Given the description of an element on the screen output the (x, y) to click on. 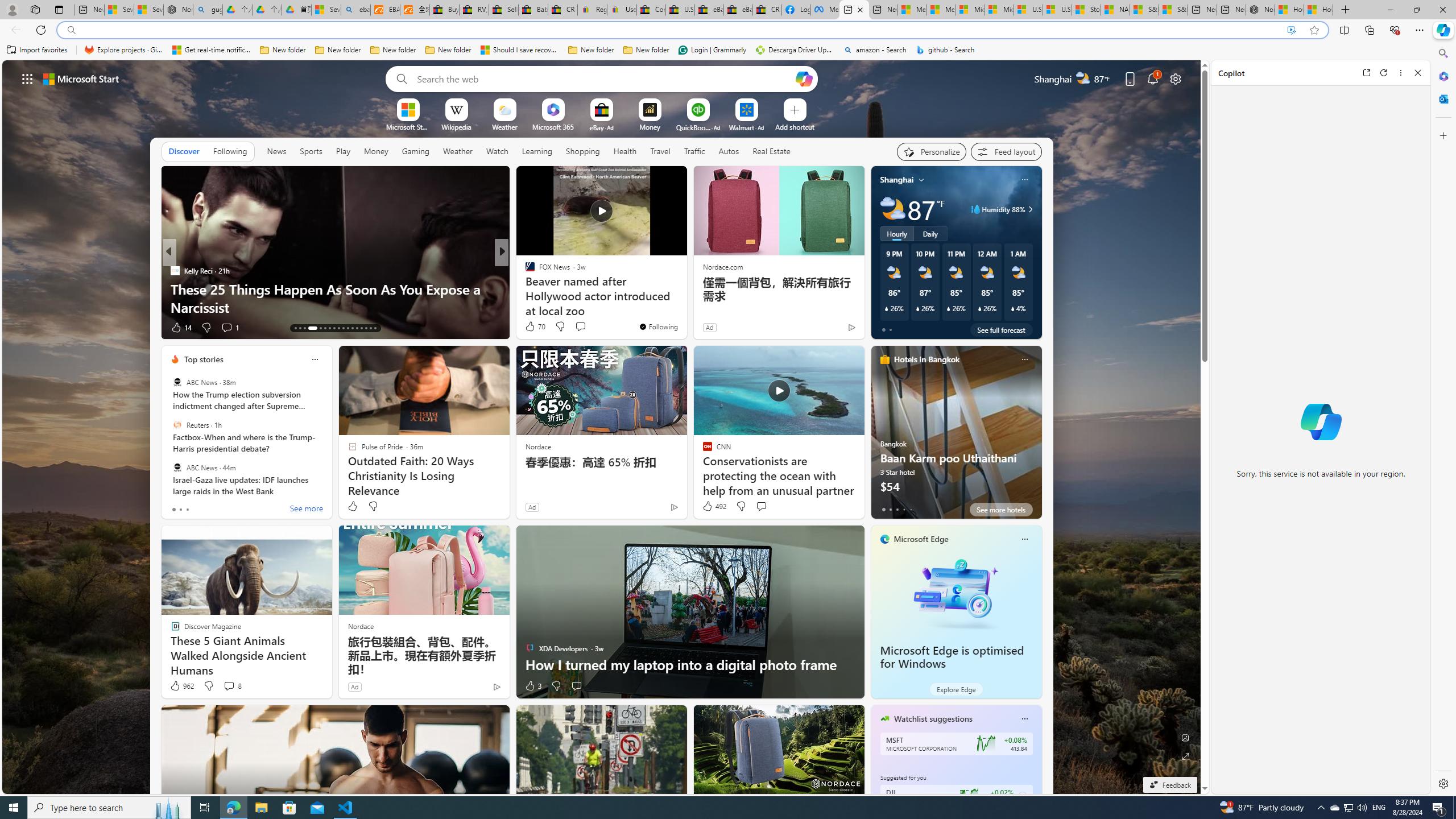
User Privacy Notice | eBay (622, 9)
Humidity 88% (1028, 208)
Consumer Health Data Privacy Policy - eBay Inc. (651, 9)
Largest Timber Rattlesnake Ever Recorded (684, 307)
Class: follow-button  m (1021, 795)
Partly cloudy (892, 208)
Shopping (583, 151)
AutomationID: backgroundImagePicture (601, 426)
Microsoft Edge (921, 538)
